Given the description of an element on the screen output the (x, y) to click on. 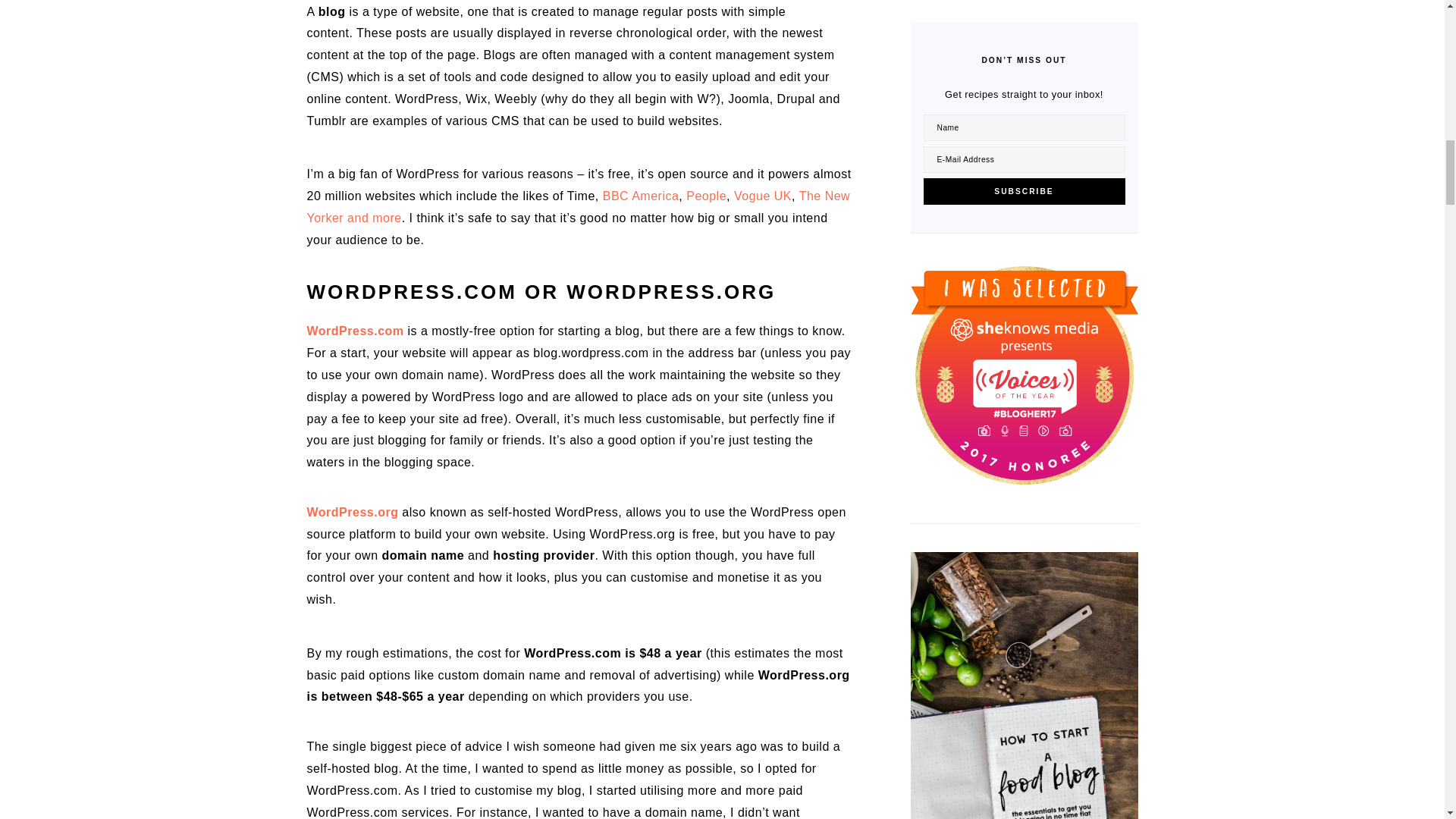
BBC America (640, 195)
People (705, 195)
The New Yorker (577, 206)
Subscribe (1024, 191)
WordPress.com (354, 330)
and more (374, 217)
WordPress.org (351, 512)
Vogue UK (762, 195)
